Given the description of an element on the screen output the (x, y) to click on. 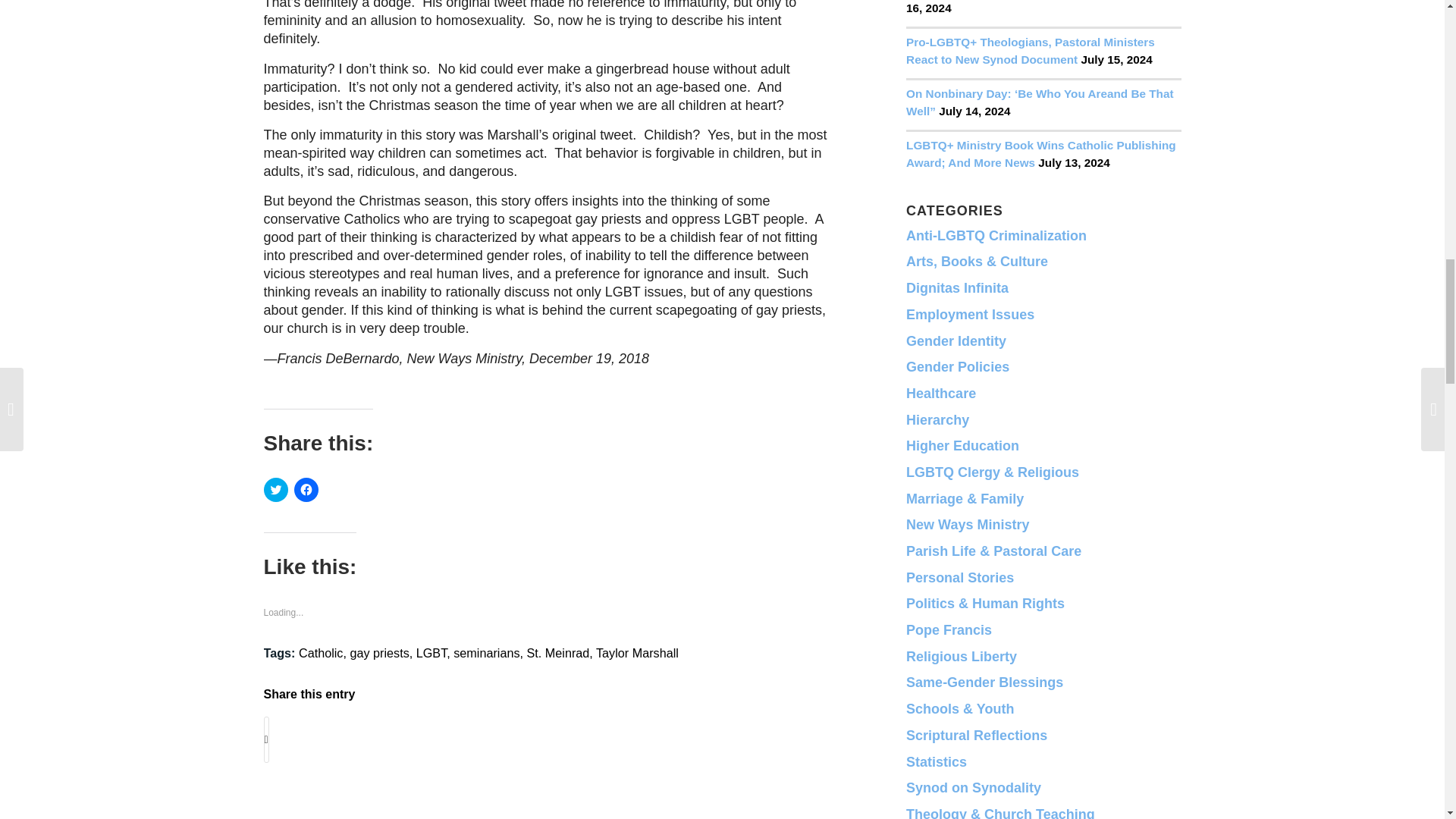
Click to share on Facebook (306, 489)
gay priests (379, 653)
Click to share on Twitter (275, 489)
Catholic (320, 653)
LGBT (431, 653)
